Given the description of an element on the screen output the (x, y) to click on. 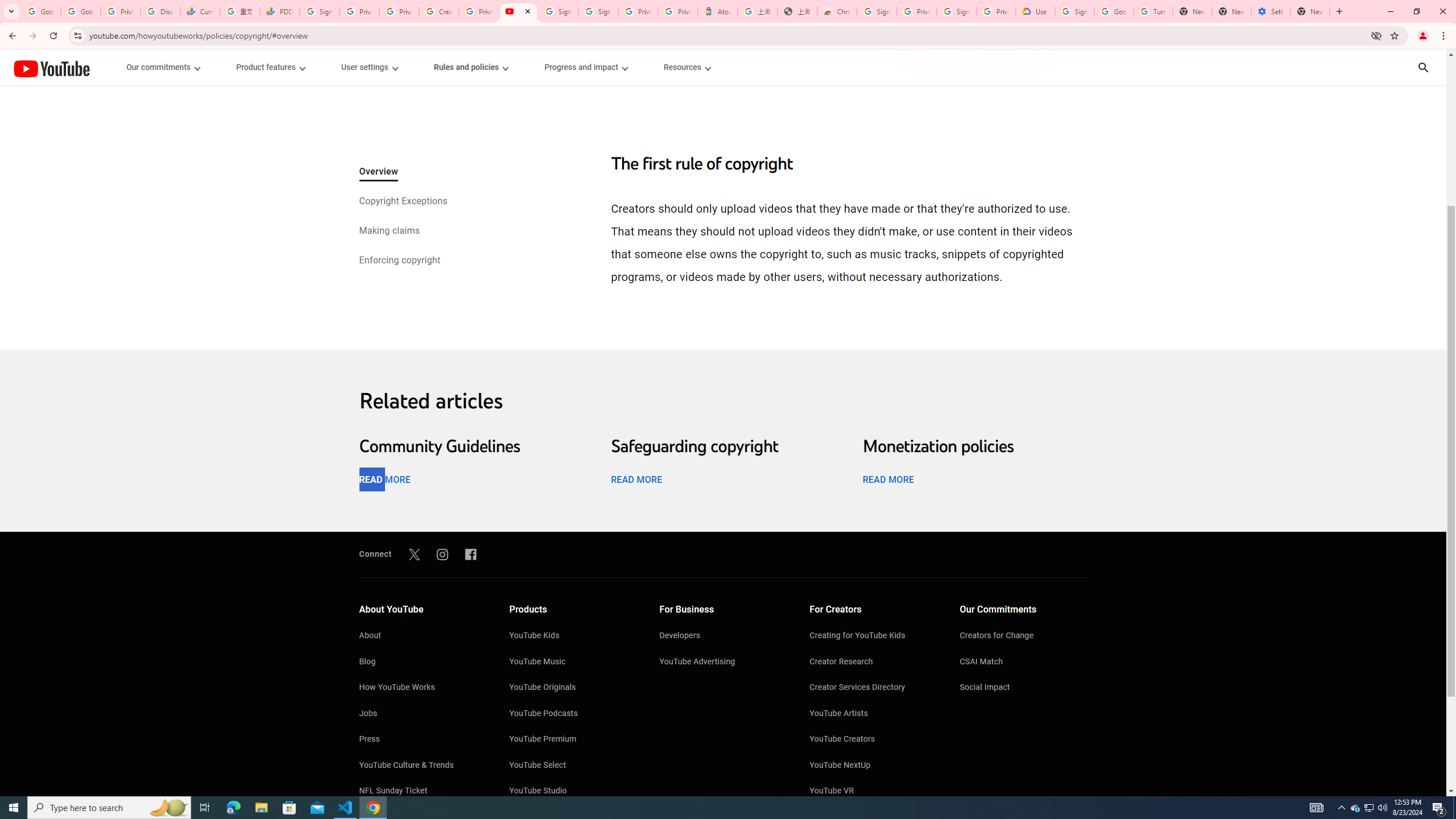
YouTube (51, 68)
Our commitments menupopup (163, 67)
Sign in - Google Accounts (557, 11)
YouTube Select (573, 765)
JUMP TO CONTENT (118, 67)
YouTube Kids (573, 636)
Address and search bar (726, 35)
YouTube Studio (573, 791)
Social Impact (1023, 687)
